Given the description of an element on the screen output the (x, y) to click on. 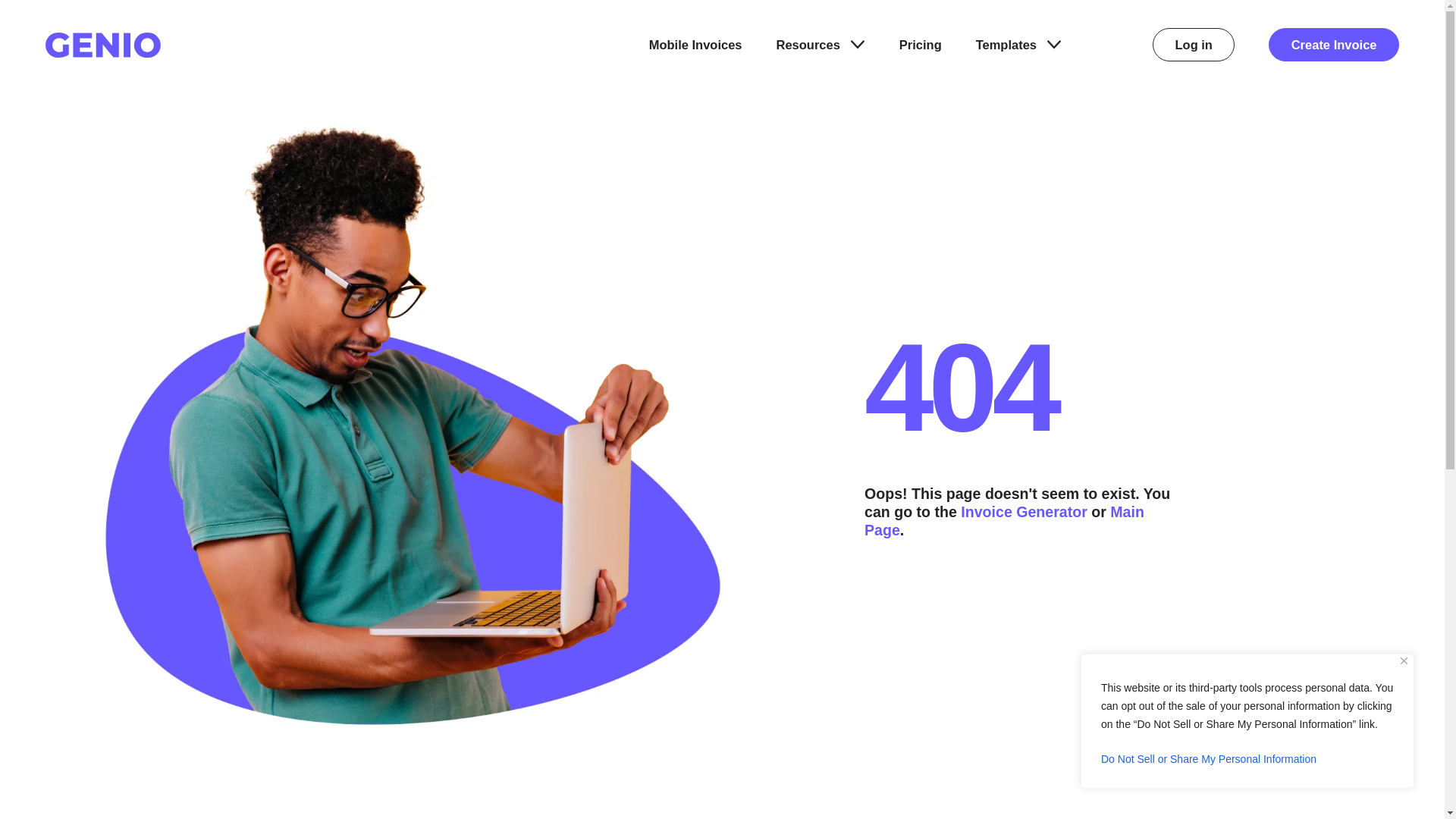
Mobile Invoices (695, 44)
Templates (1018, 44)
Do Not Sell or Share My Personal Information (1246, 759)
Pricing (920, 44)
